Given the description of an element on the screen output the (x, y) to click on. 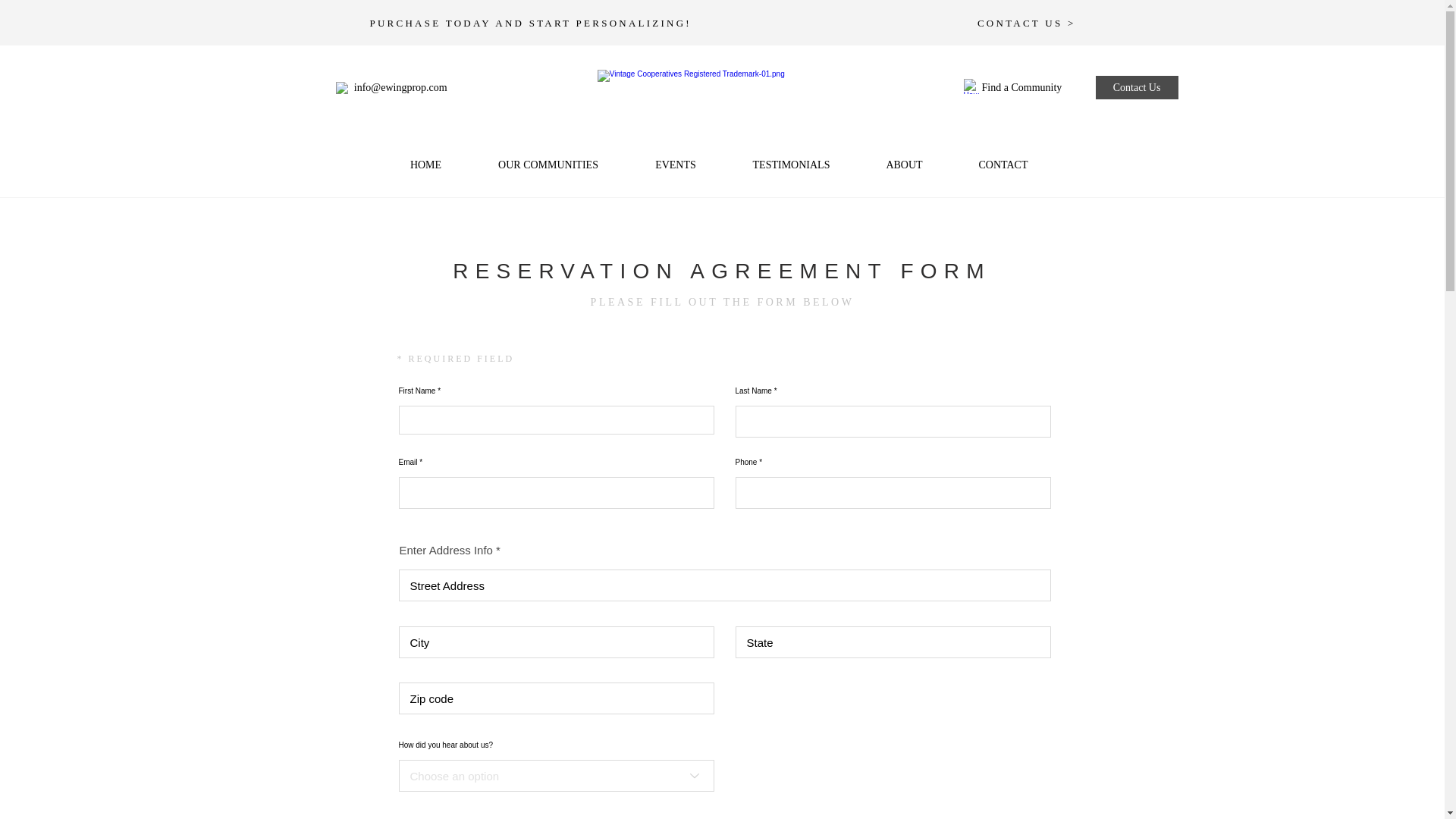
ABOUT (904, 165)
TESTIMONIALS (792, 165)
Find a Community (1031, 87)
OUR COMMUNITIES (548, 165)
PURCHASE TODAY AND START PERSONALIZING! (530, 22)
HOME (425, 165)
CONTACT (1003, 165)
EVENTS (674, 165)
Contact Us (1136, 87)
